Given the description of an element on the screen output the (x, y) to click on. 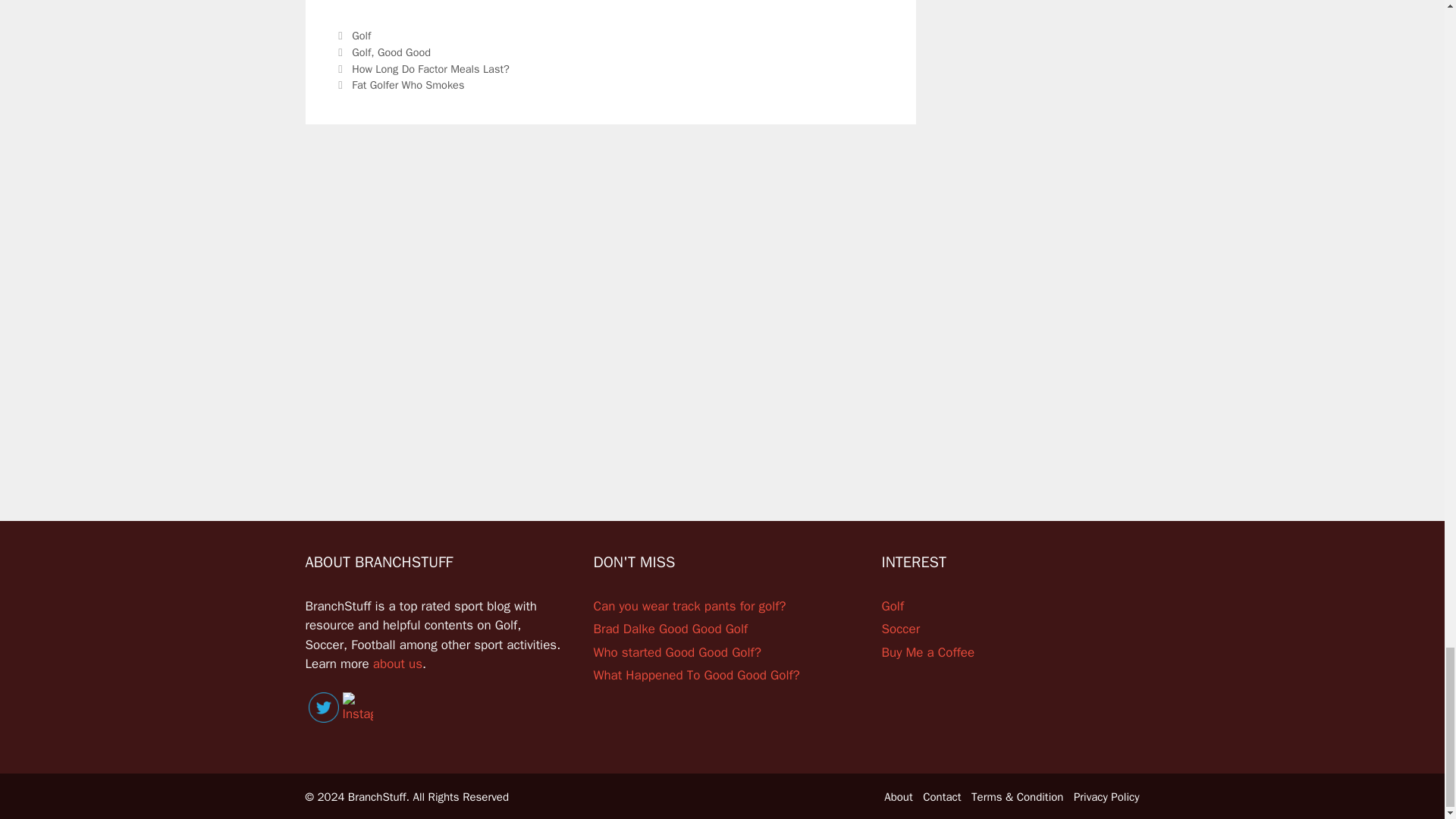
Brad Dalke Good Good Golf (670, 628)
Golf (361, 35)
Good Good (403, 51)
How Long Do Factor Meals Last? (430, 69)
Fat Golfer Who Smokes  (409, 84)
Can you wear track pants for golf? (689, 606)
Who started Good Good Golf? (676, 652)
What Happened To Good Good Golf? (695, 675)
Instagram (357, 707)
Golf (361, 51)
